Given the description of an element on the screen output the (x, y) to click on. 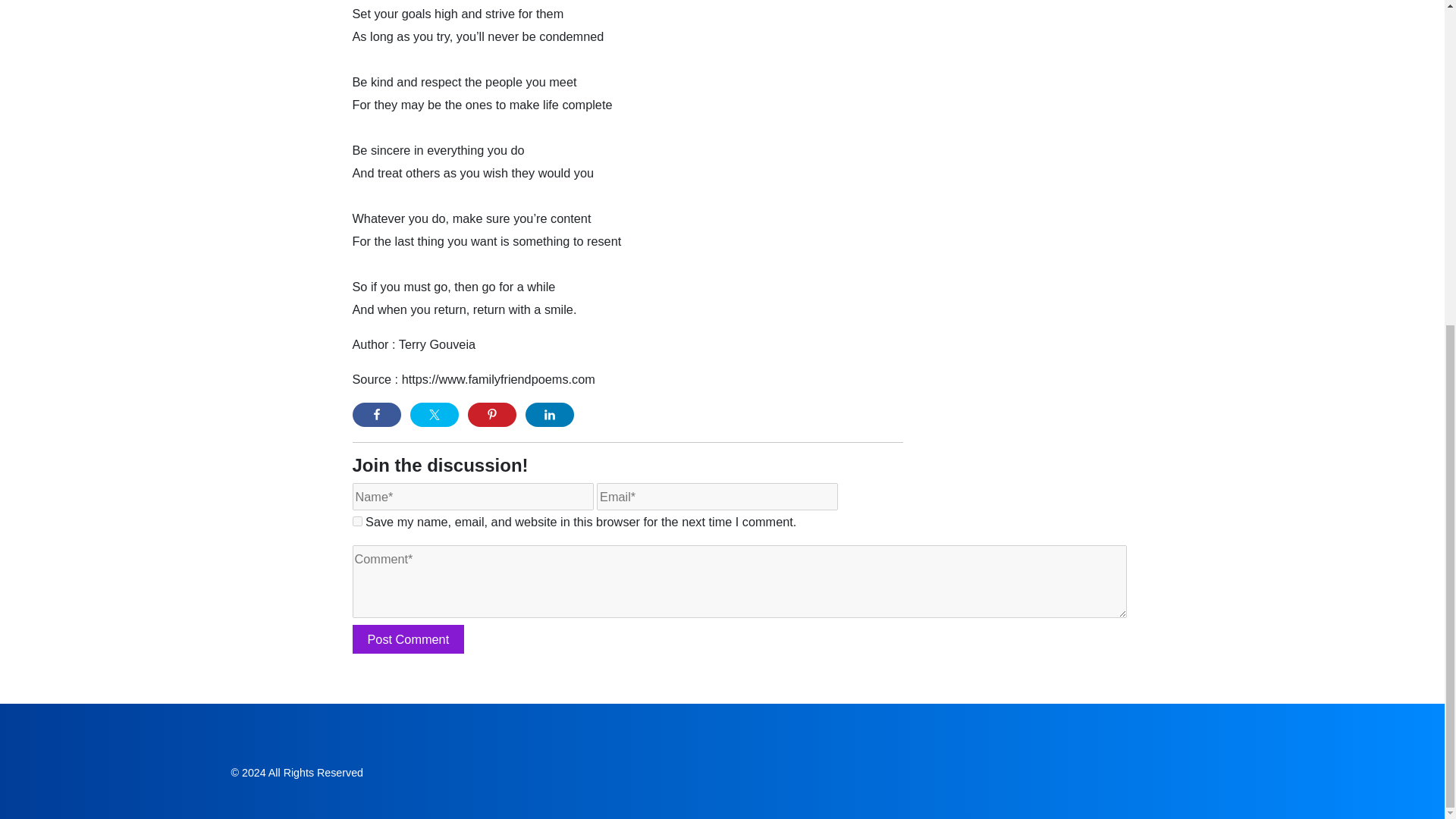
Share on Facebook (376, 414)
yes (356, 521)
Post Comment (408, 638)
Share on Twitter (433, 414)
Post Comment (408, 638)
Share on LinkedIn (548, 414)
Share on Pinterest (491, 414)
